Given the description of an element on the screen output the (x, y) to click on. 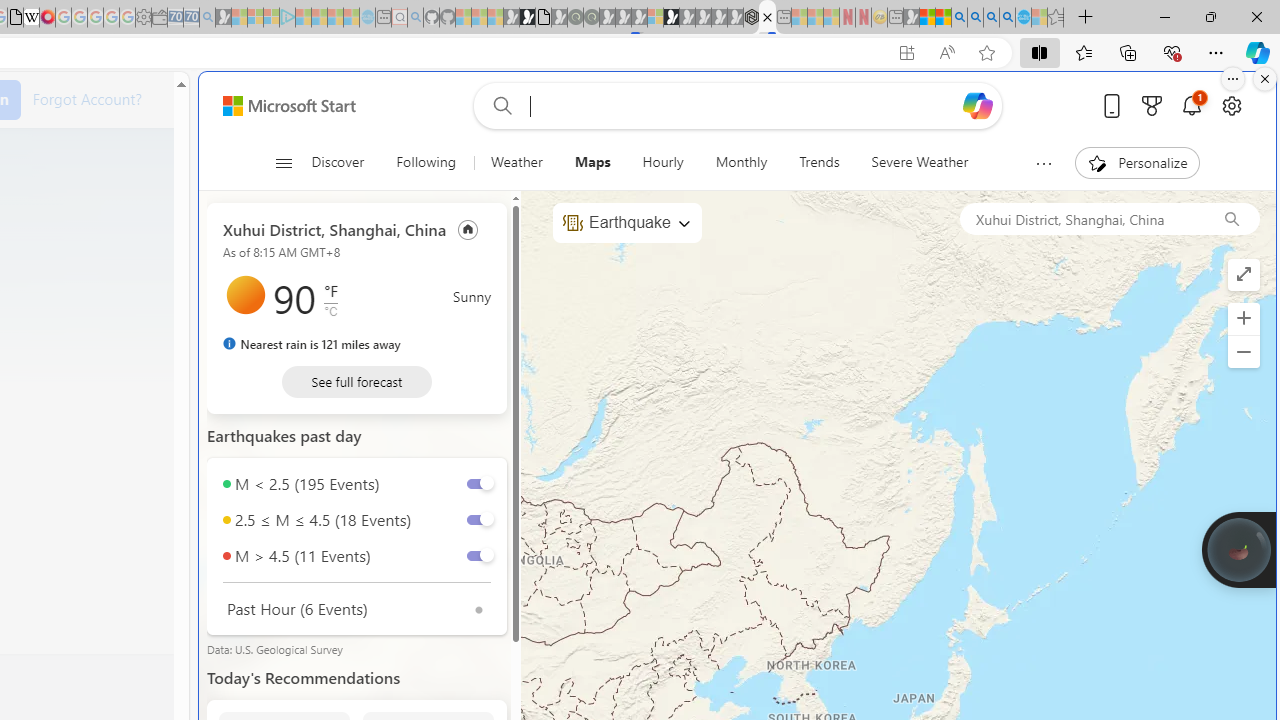
Hourly (662, 162)
Enter your search term (742, 106)
Skip to content (282, 105)
Bing Real Estate - Home sales and rental listings - Sleeping (207, 17)
Skip to footer (277, 105)
Earthquake (626, 223)
Xuhui District, Shanghai, China (1081, 218)
Enter full screen mode (1243, 274)
Following (427, 162)
MSN - Sleeping (911, 17)
Close (1256, 16)
